Given the description of an element on the screen output the (x, y) to click on. 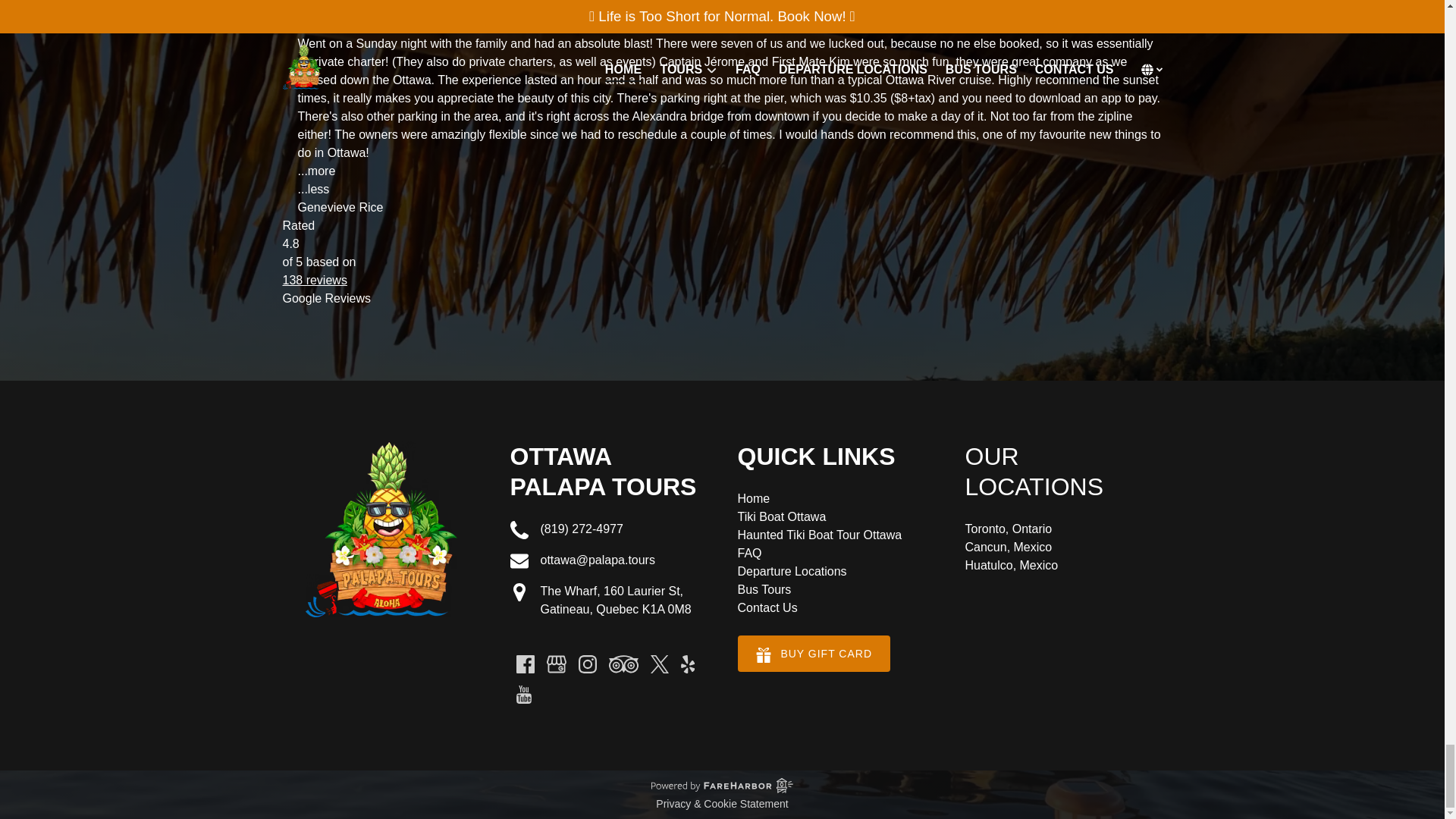
Visit our Google My Business Profile (556, 664)
Visit our TripAdvisor (623, 664)
Map Marker (518, 592)
Visit our Instagram (587, 664)
GIFT (762, 654)
Phone (518, 529)
Envelope (518, 561)
Visit our Facebook (524, 664)
